Given the description of an element on the screen output the (x, y) to click on. 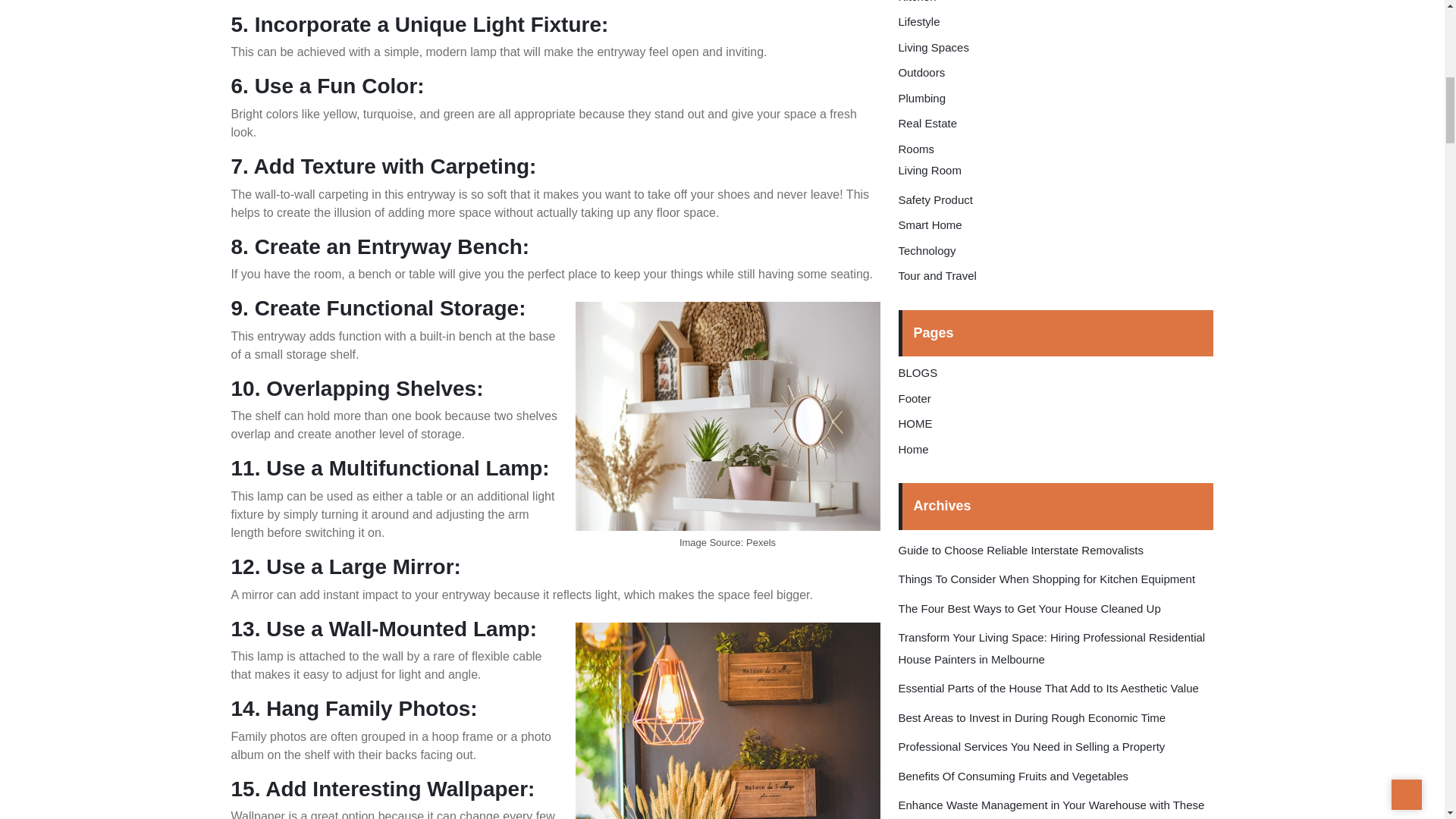
Smart Home (929, 224)
Real Estate (927, 123)
HOME (914, 422)
Lifestyle (918, 21)
Kitchen (917, 1)
Living Spaces (933, 47)
BLOGS (917, 372)
Footer (914, 398)
Technology (926, 250)
Tour and Travel (936, 275)
